Given the description of an element on the screen output the (x, y) to click on. 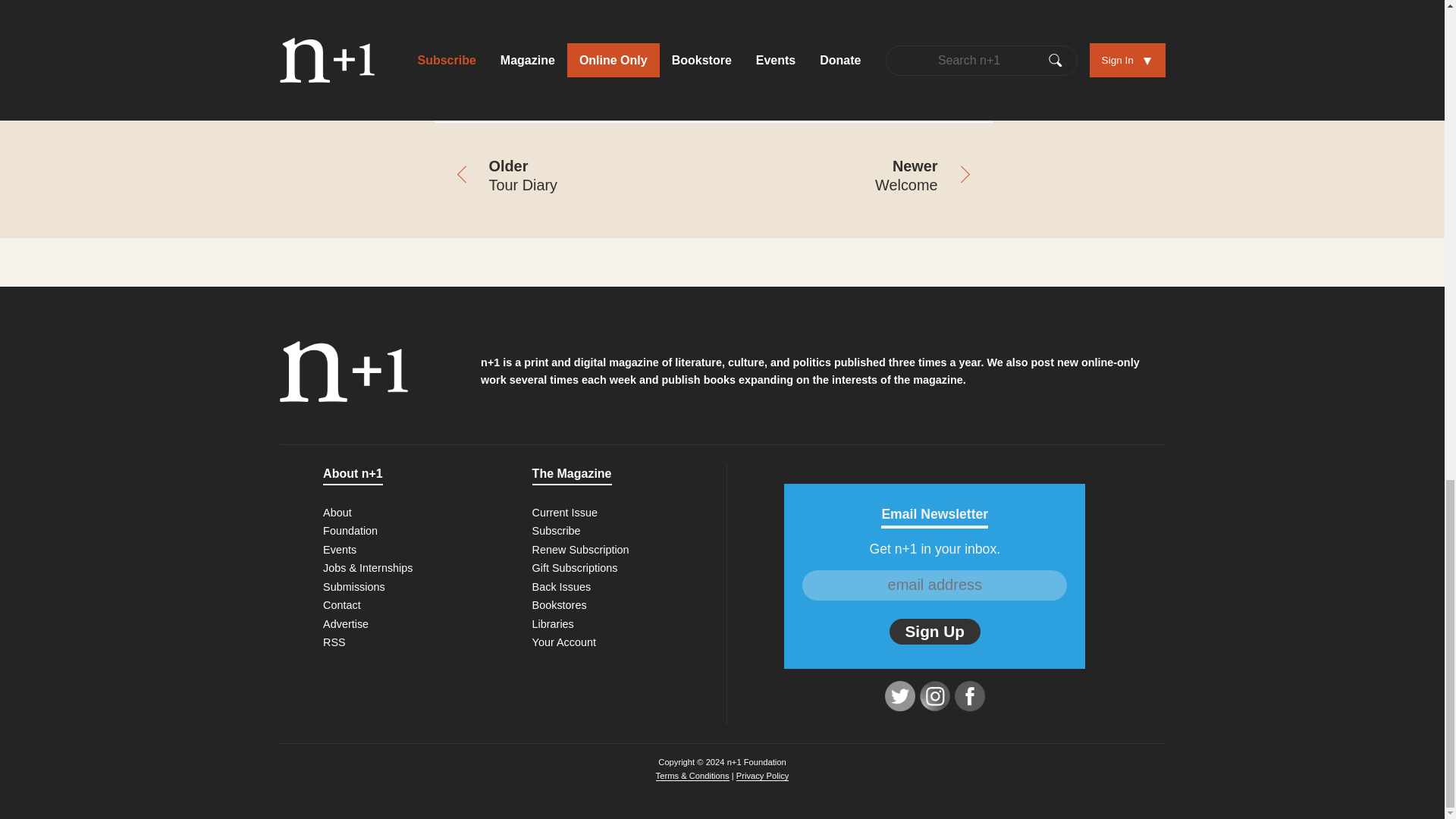
Gift Subscriptions (574, 567)
Events (339, 549)
About (337, 512)
Twitter (900, 695)
Renew Subscription (580, 549)
RSS (334, 642)
Welcome (852, 177)
Tour Diary (573, 177)
Submissions (354, 586)
Sign Up (934, 631)
Bookstores (559, 604)
Subscribe (556, 530)
Foundation (350, 530)
Libraries (552, 623)
Contact (342, 604)
